Given the description of an element on the screen output the (x, y) to click on. 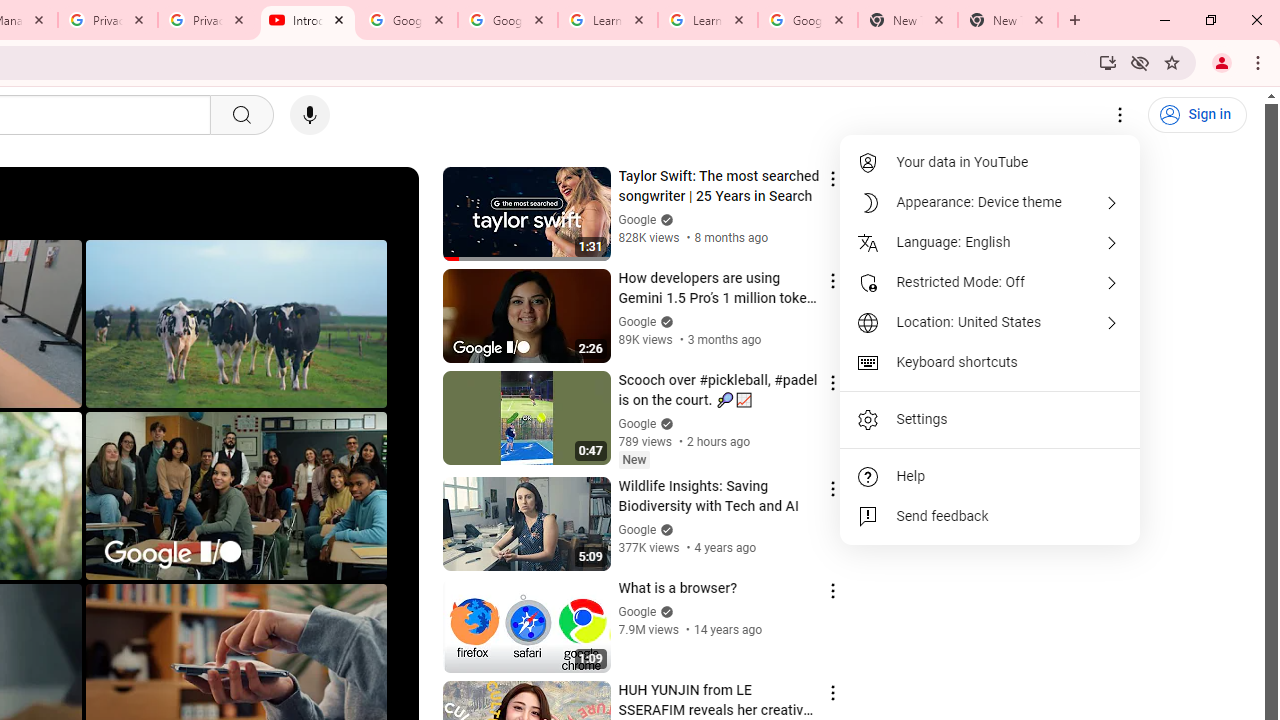
Send feedback (989, 516)
New (634, 459)
New Tab (1007, 20)
